Given the description of an element on the screen output the (x, y) to click on. 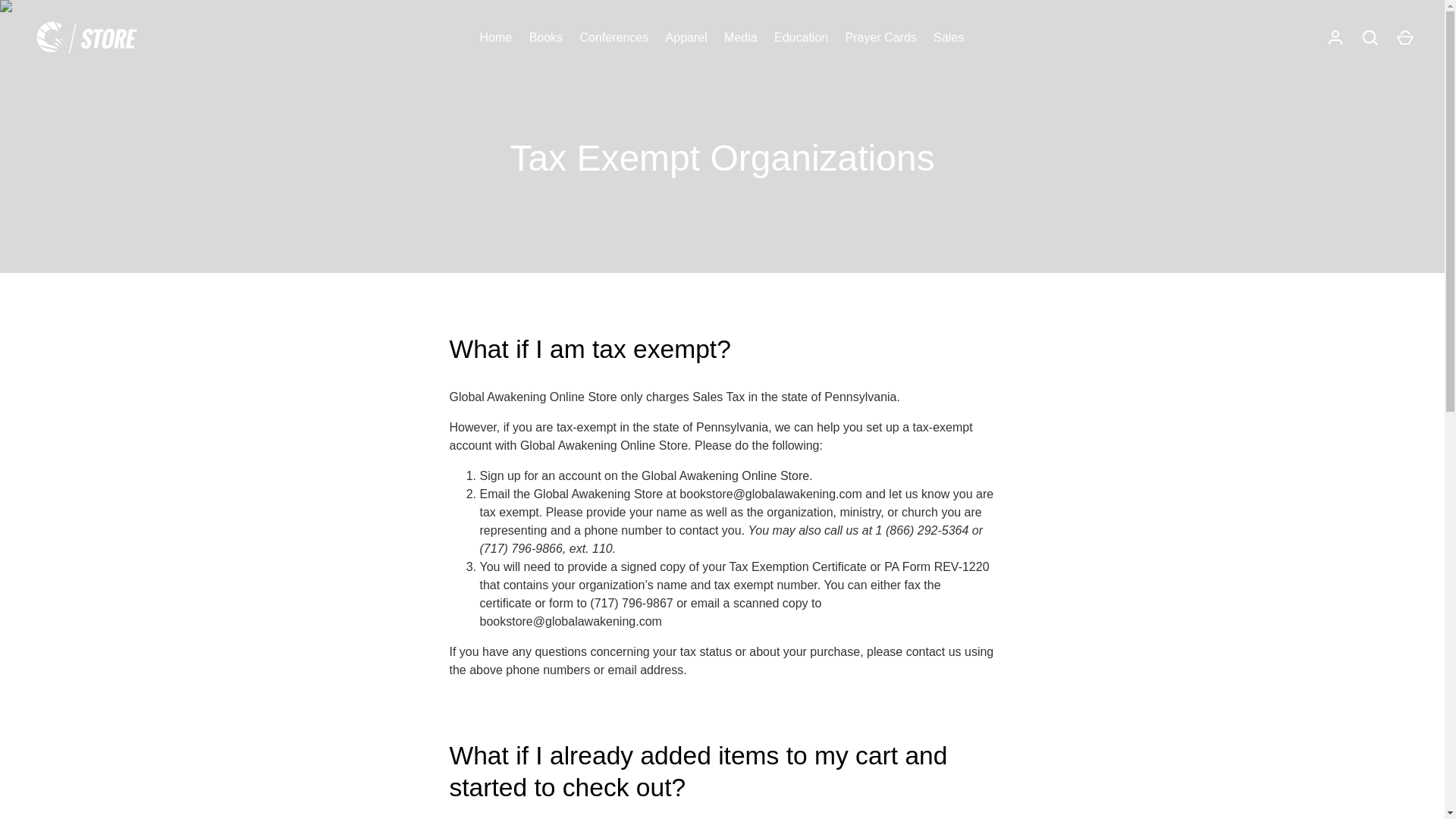
Conferences (613, 37)
Prayer Cards (879, 37)
Books (544, 37)
Education (801, 37)
Media (740, 37)
Sales (948, 37)
Apparel (686, 37)
Home (494, 37)
